Given the description of an element on the screen output the (x, y) to click on. 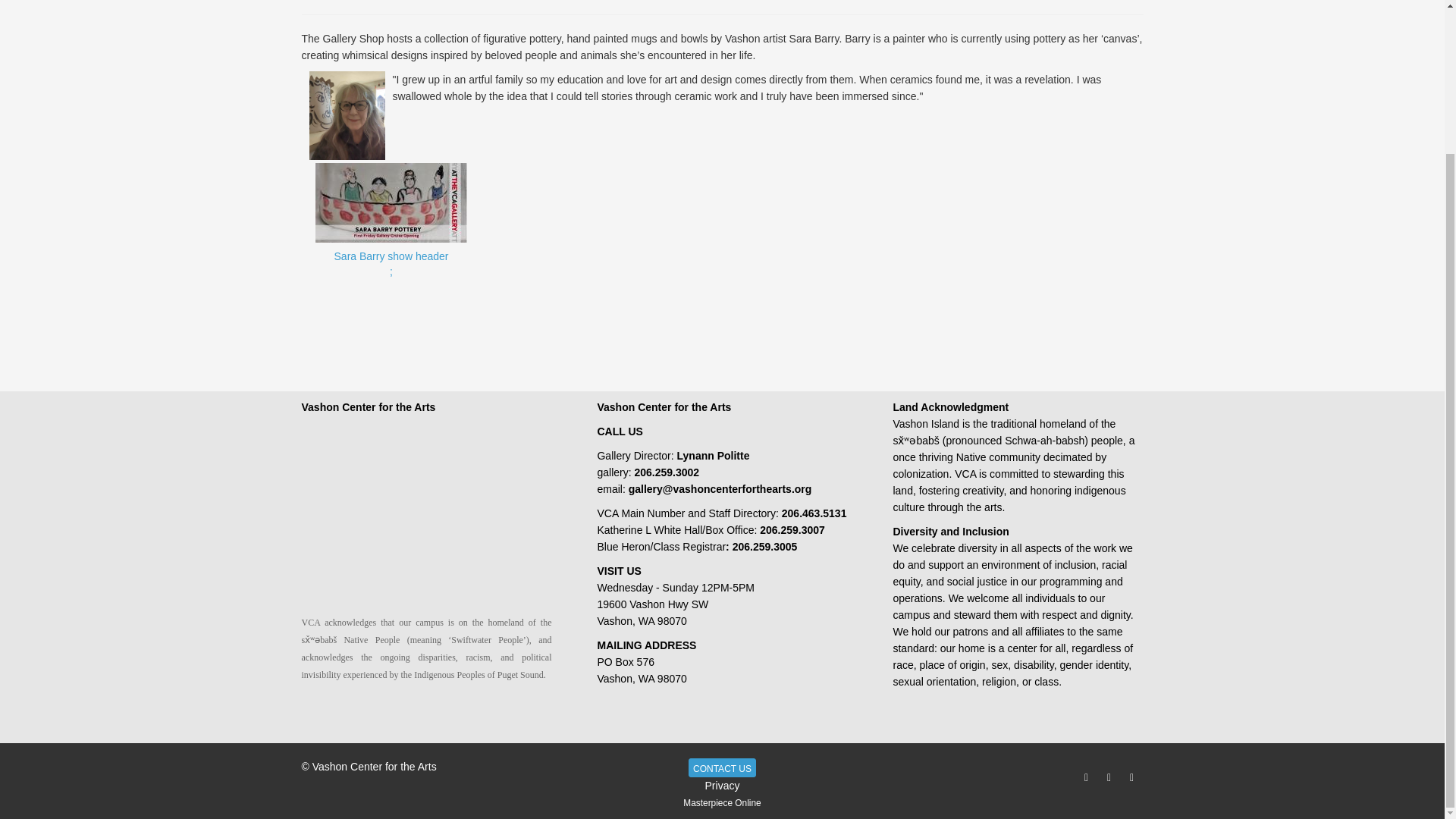
Facebook (1108, 776)
CONTACT US (391, 278)
Masterpiece Online (721, 767)
Youtube (721, 802)
Instagram (1130, 776)
Sara Barry show header (1085, 776)
Privacy (391, 278)
